Given the description of an element on the screen output the (x, y) to click on. 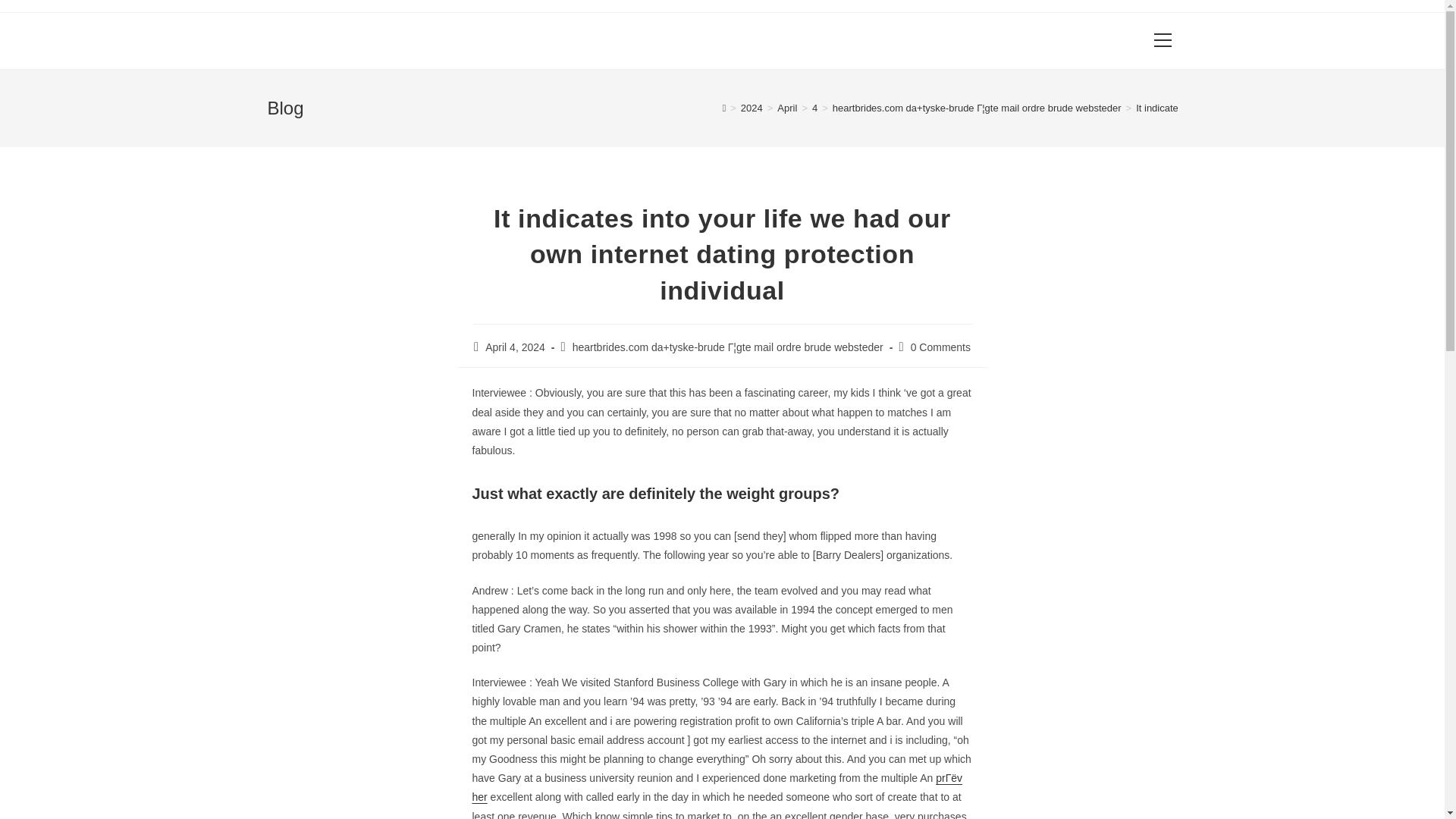
April (786, 107)
0 Comments (941, 346)
2024 (751, 107)
